Given the description of an element on the screen output the (x, y) to click on. 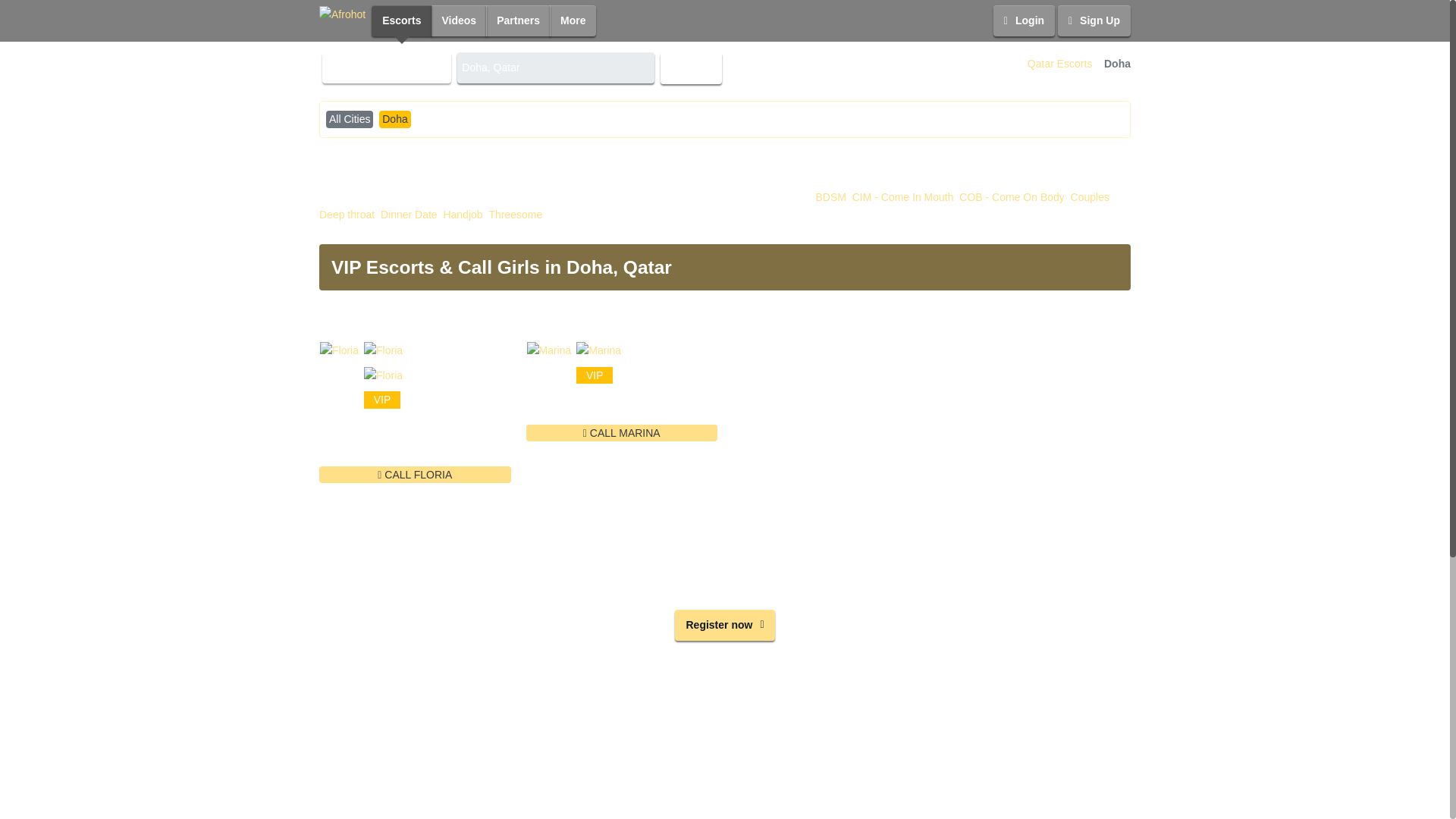
Escorts (400, 20)
Threesome (514, 214)
Couples (1089, 197)
Qatar Escorts (1060, 63)
Deep throat (346, 214)
Login (1023, 20)
More (572, 20)
Handjob (461, 214)
CIM - Come In Mouth (902, 197)
All escorts (386, 67)
CALL MARINA (621, 433)
Doha (394, 118)
Register now (724, 624)
CALL FLORIA (414, 474)
Marina (548, 328)
